Given the description of an element on the screen output the (x, y) to click on. 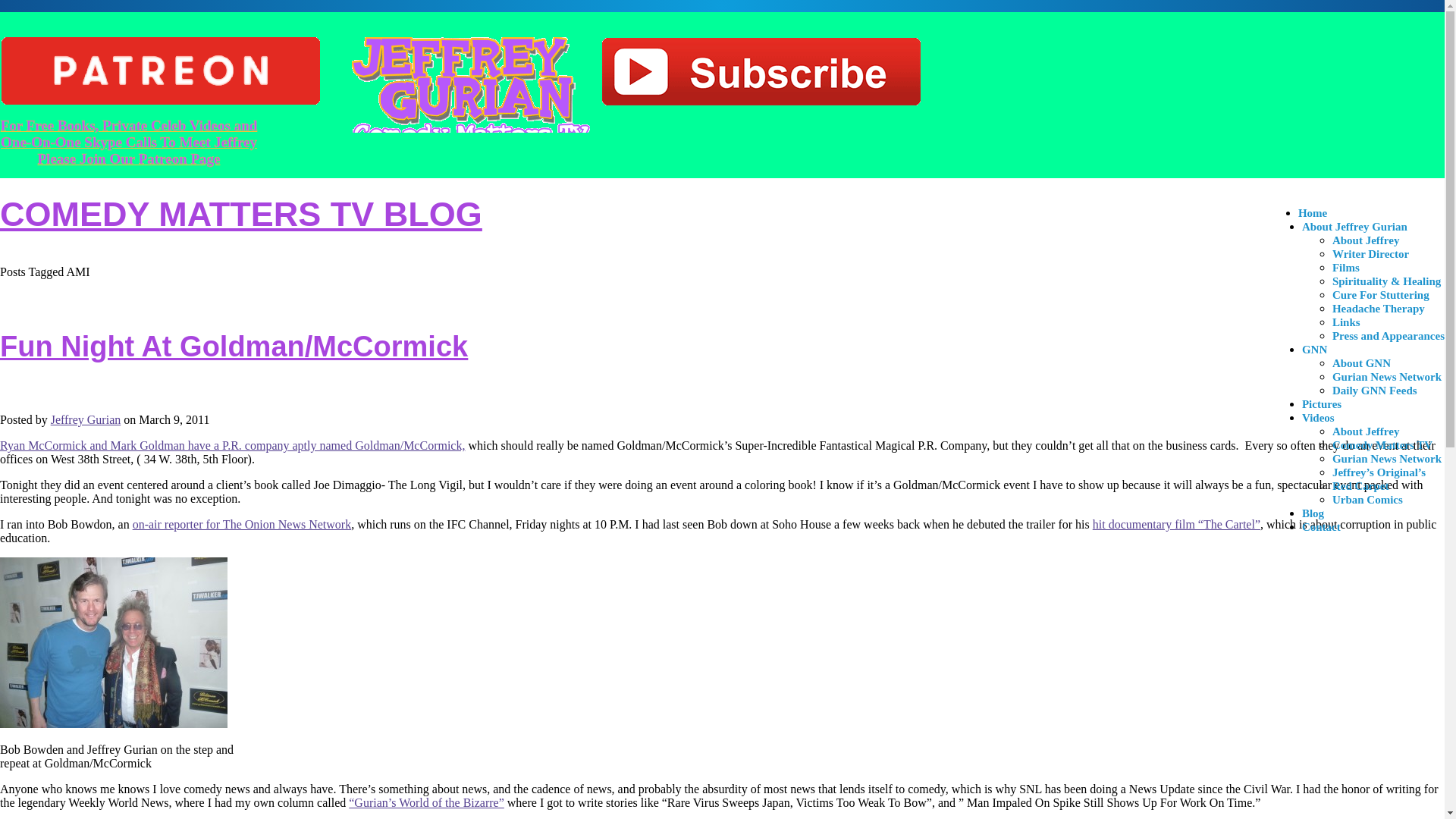
Red Carpet (1360, 485)
on-air reporter for The Onion News Network (242, 523)
Gurian News Network (1386, 458)
Links (1345, 321)
Daily GNN Feeds (1374, 389)
About GNN (1361, 362)
Home (1312, 212)
About Jeffrey (1365, 430)
Cure For Stuttering (1380, 294)
About Jeffrey (1365, 239)
